Given the description of an element on the screen output the (x, y) to click on. 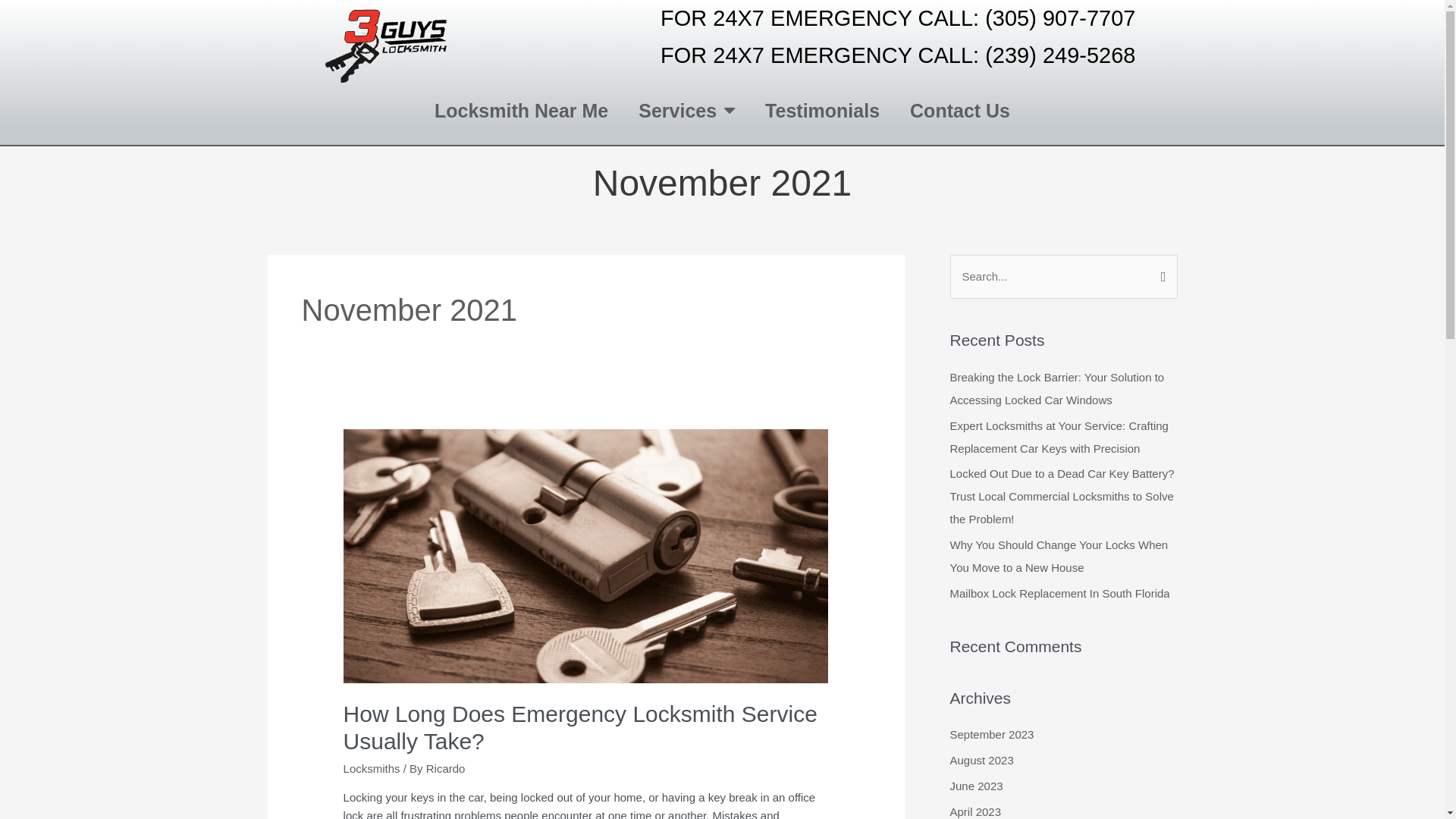
Search Element type: text (1160, 274)
How Long Does Emergency Locksmith Service Usually Take? Element type: text (580, 727)
September 2023 Element type: text (991, 734)
FOR 24X7 EMERGENCY CALL: (239) 249-5268 Element type: text (897, 55)
Ricardo Element type: text (445, 768)
Mailbox Lock Replacement In South Florida Element type: text (1059, 592)
Contact Us Element type: text (959, 110)
Locksmiths Element type: text (371, 768)
April 2023 Element type: text (975, 811)
FOR 24X7 EMERGENCY CALL: (305) 907-7707 Element type: text (897, 18)
Locksmith Near Me Element type: text (521, 110)
Services Element type: text (686, 110)
June 2023 Element type: text (975, 785)
August 2023 Element type: text (981, 759)
Testimonials Element type: text (821, 110)
